Given the description of an element on the screen output the (x, y) to click on. 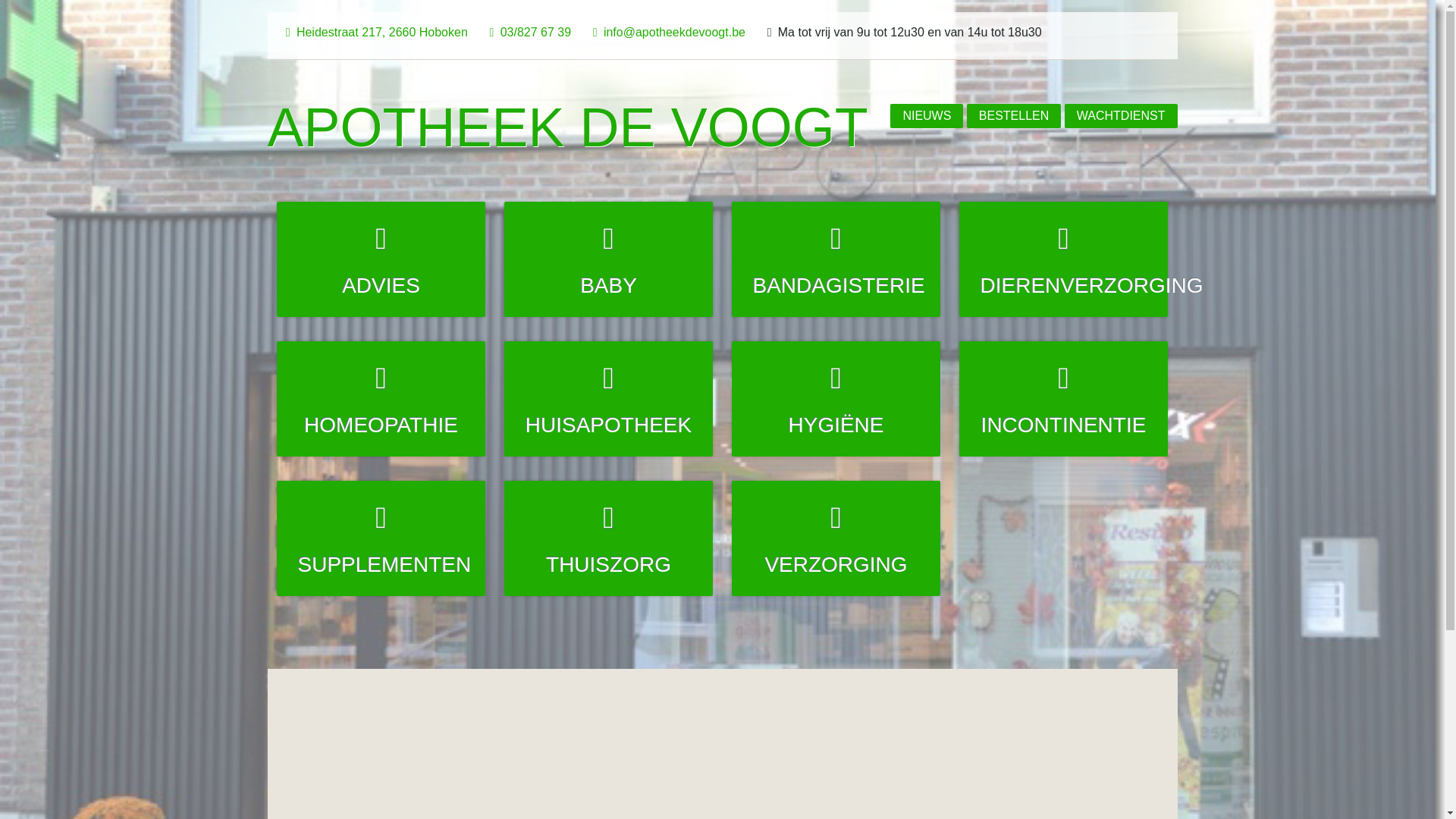
INCONTINENTIE Element type: text (1063, 398)
HOMEOPATHIE Element type: text (380, 398)
03/827 67 39 Element type: text (527, 31)
ADVIES Element type: text (380, 258)
Heidestraat 217, 2660 Hoboken Element type: text (373, 31)
HUISAPOTHEEK Element type: text (608, 398)
BABY Element type: text (608, 258)
DIERENVERZORGING Element type: text (1063, 258)
BESTELLEN Element type: text (1013, 115)
VERZORGING Element type: text (835, 538)
NIEUWS Element type: text (926, 115)
SUPPLEMENTEN Element type: text (380, 538)
info@apotheekdevoogt.be Element type: text (665, 31)
Overslaan en naar de inhoud gaan Element type: text (93, 0)
WACHTDIENST Element type: text (1120, 115)
BANDAGISTERIE Element type: text (835, 258)
THUISZORG Element type: text (608, 538)
APOTHEEK DE VOOGT Element type: text (566, 127)
